Given the description of an element on the screen output the (x, y) to click on. 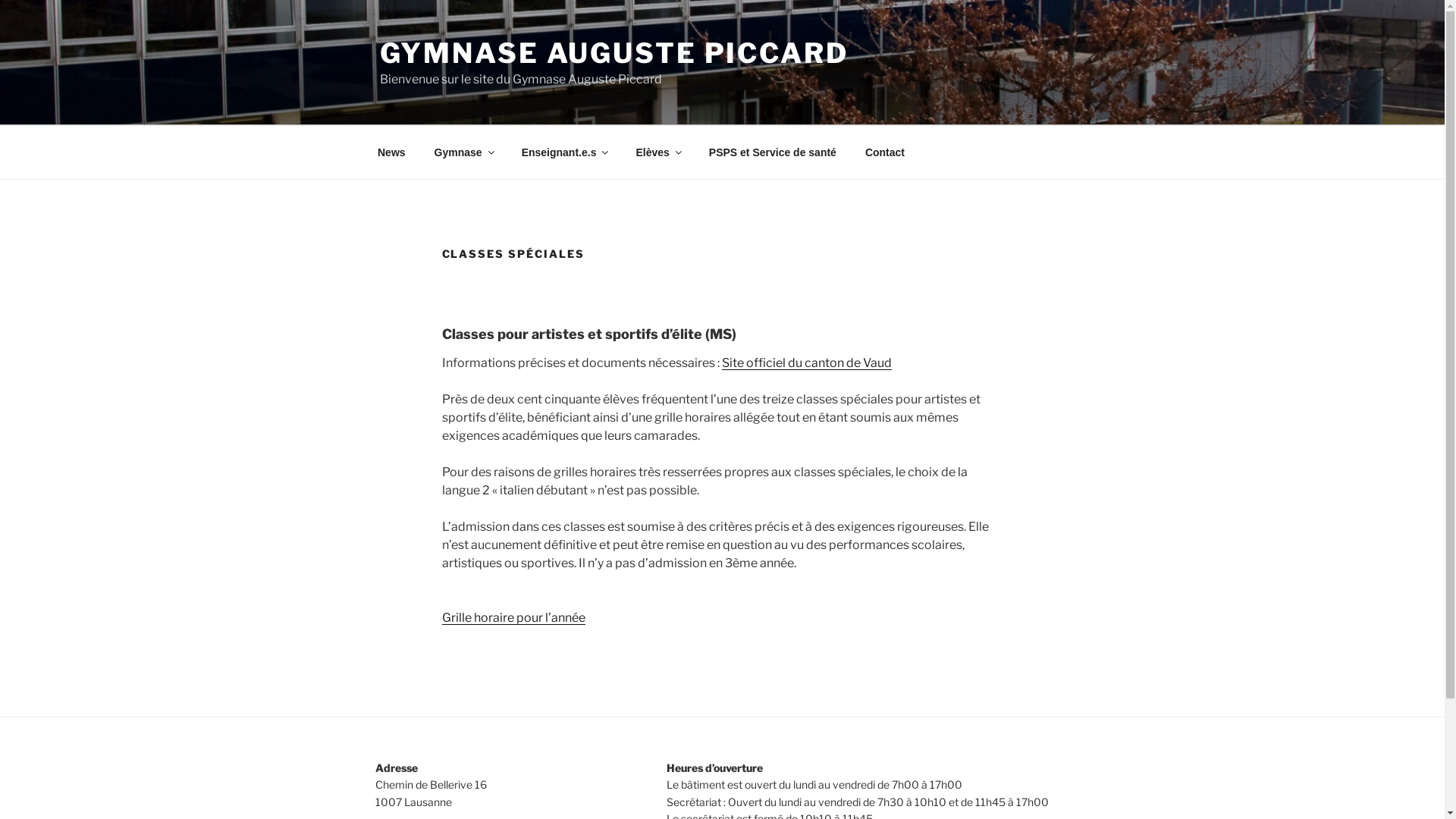
GYMNASE AUGUSTE PICCARD Element type: text (613, 52)
Gymnase Element type: text (462, 151)
News Element type: text (391, 151)
Site officiel du canton de Vaud Element type: text (806, 362)
Enseignant.e.s Element type: text (564, 151)
Contact Element type: text (884, 151)
